Given the description of an element on the screen output the (x, y) to click on. 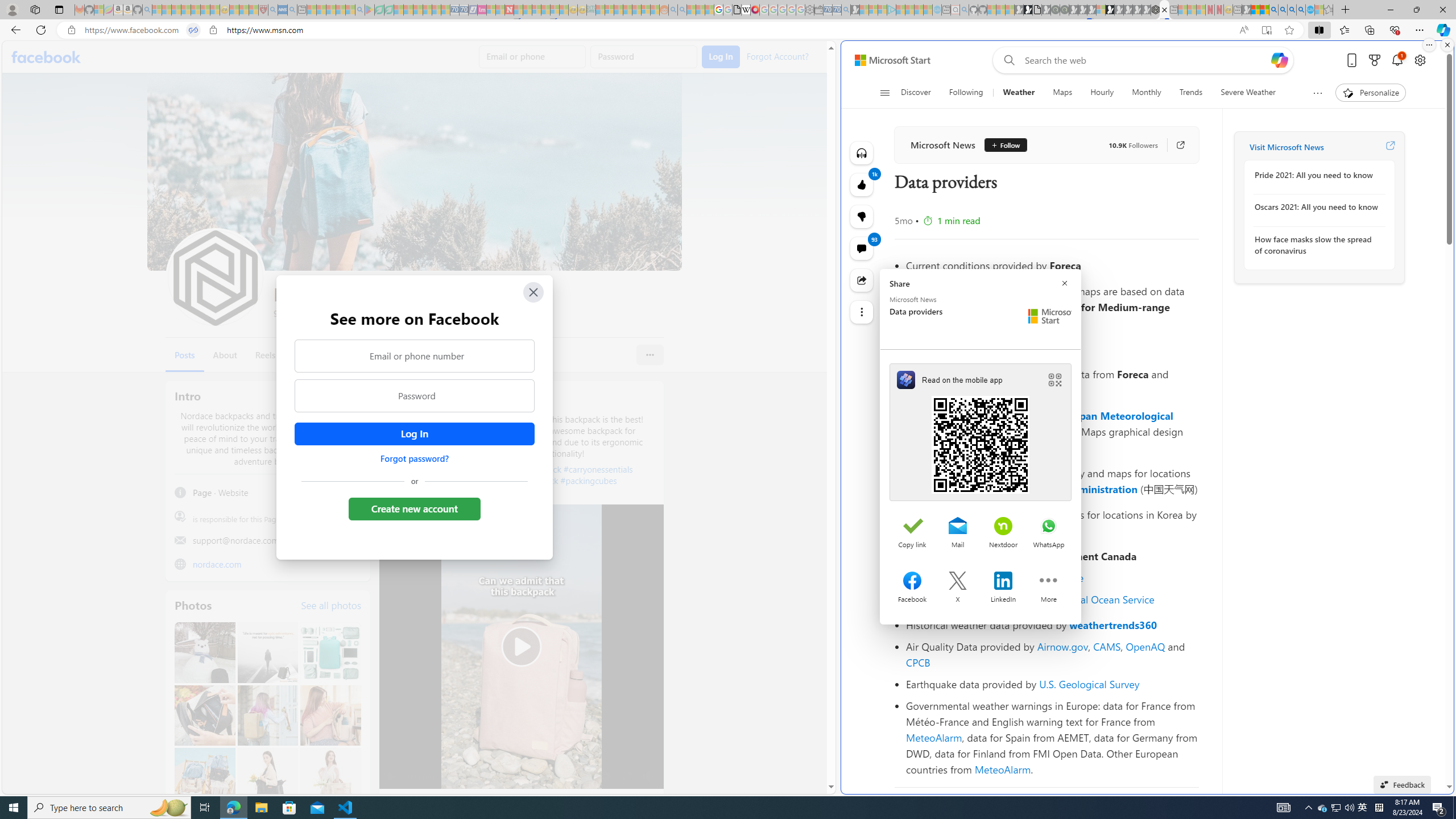
Target page - Wikipedia (745, 9)
Personalize (1370, 92)
MediaWiki (754, 9)
Favorites - Sleeping (1328, 9)
Oscars 2021: All you need to know (1316, 206)
Kinda Frugal - MSN - Sleeping (636, 9)
China Meteorological Administration (1048, 489)
